Given the description of an element on the screen output the (x, y) to click on. 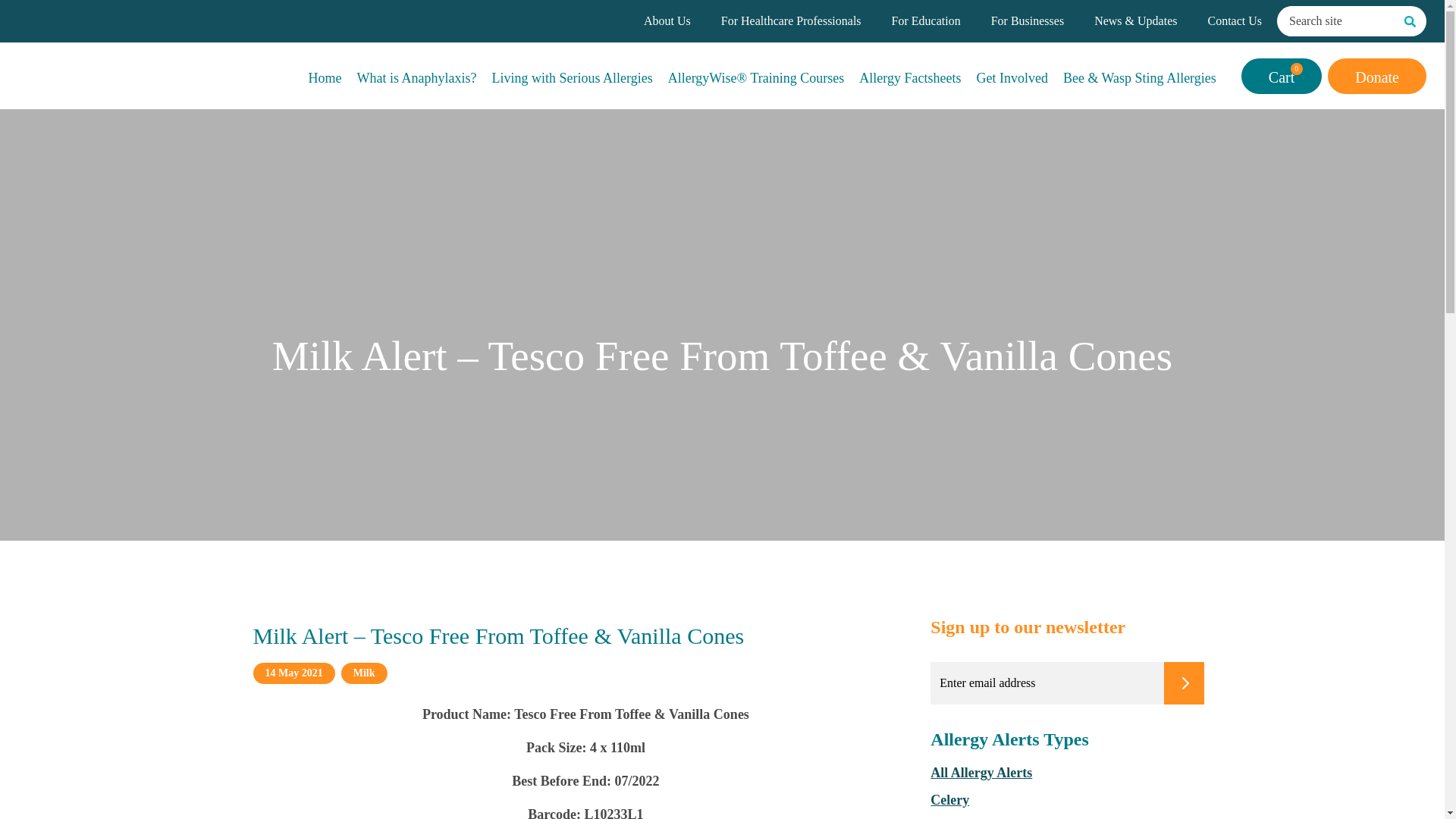
Home (325, 75)
About Us (666, 21)
For Businesses (1027, 21)
For Education (925, 21)
Living with Serious Allergies (572, 75)
For Healthcare Professionals (790, 21)
Contact Us (1234, 21)
What is Anaphylaxis? (416, 75)
